Given the description of an element on the screen output the (x, y) to click on. 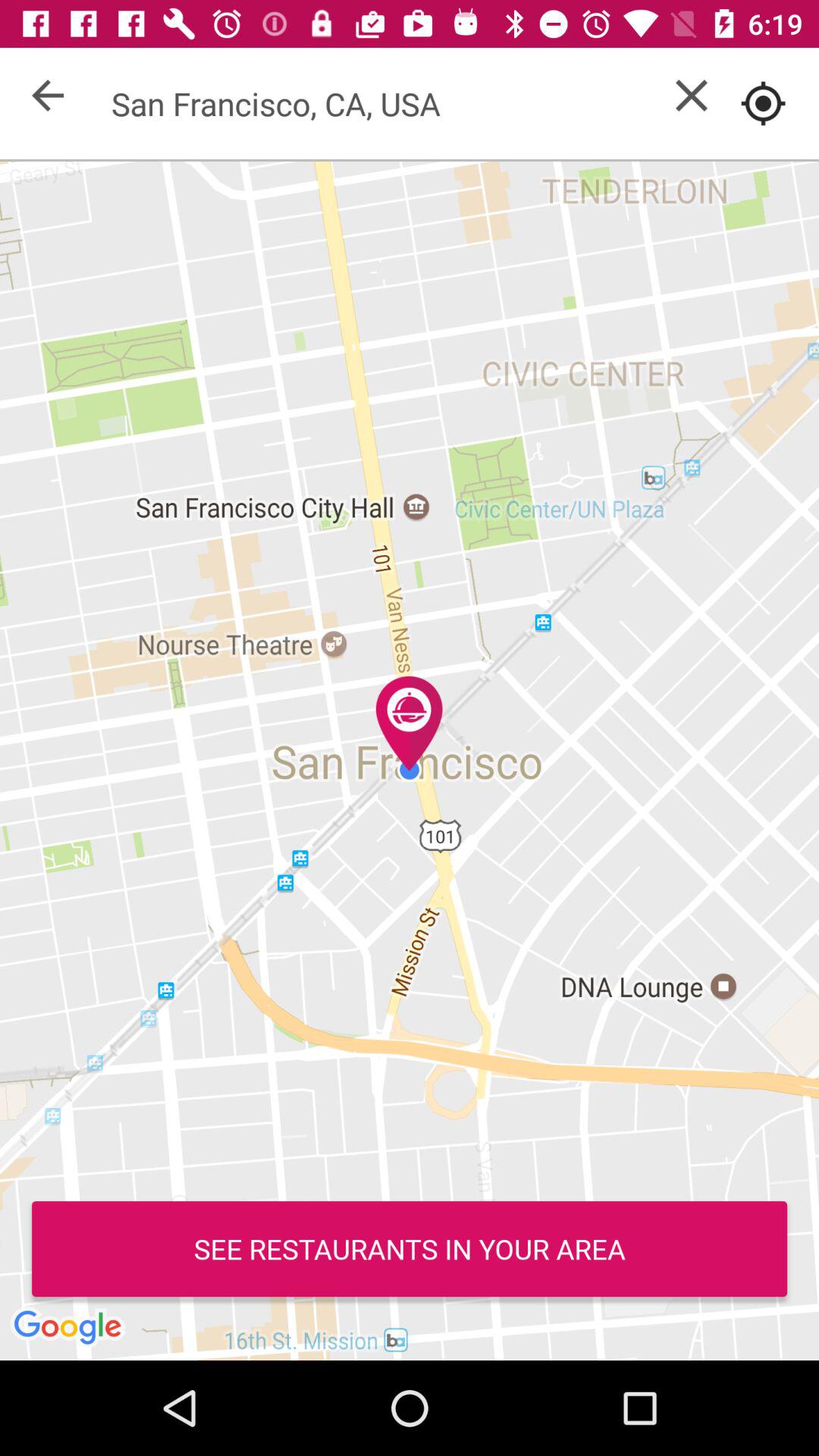
go back to last page (47, 95)
